Given the description of an element on the screen output the (x, y) to click on. 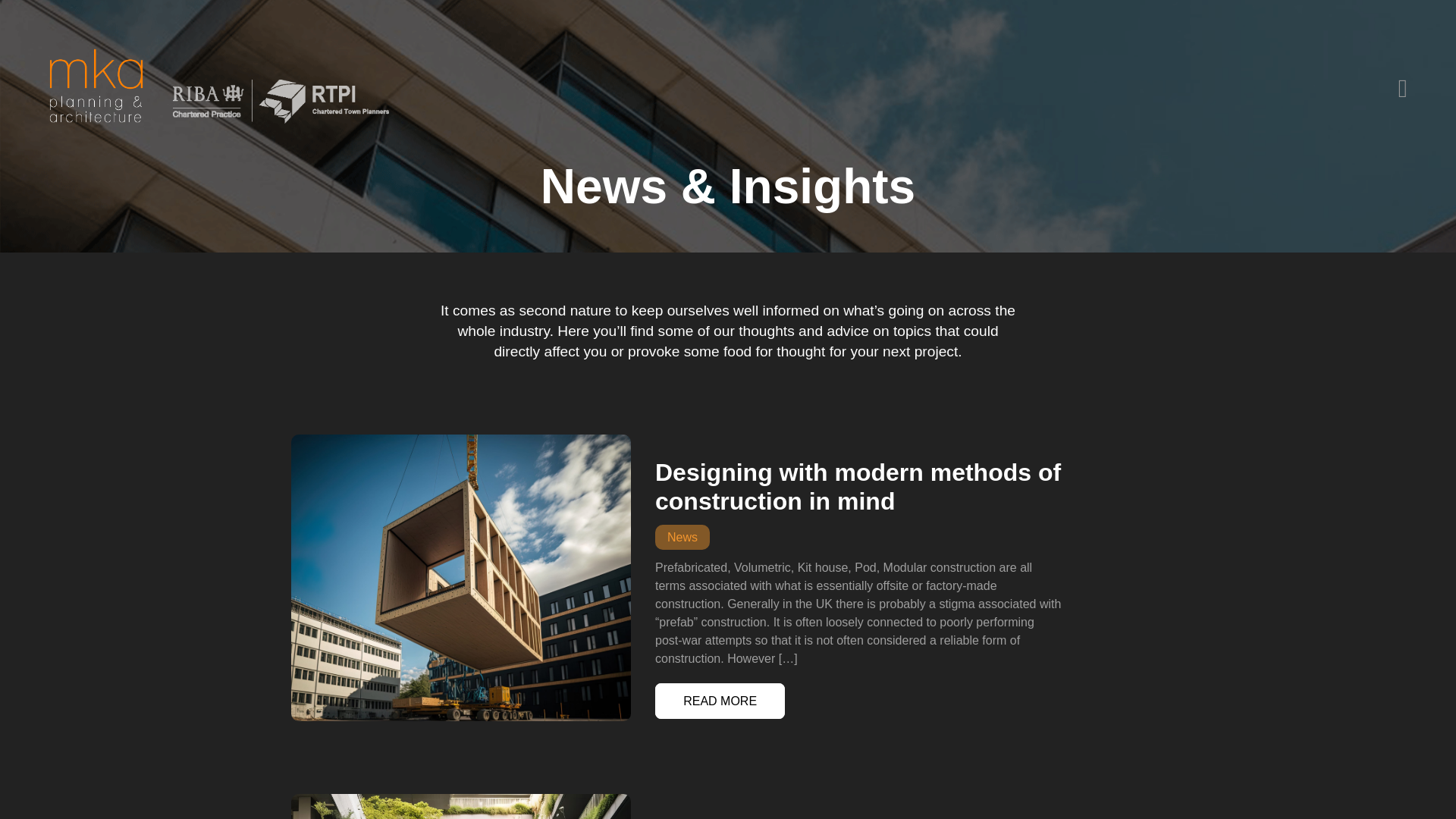
News (682, 536)
READ MORE (719, 701)
